Given the description of an element on the screen output the (x, y) to click on. 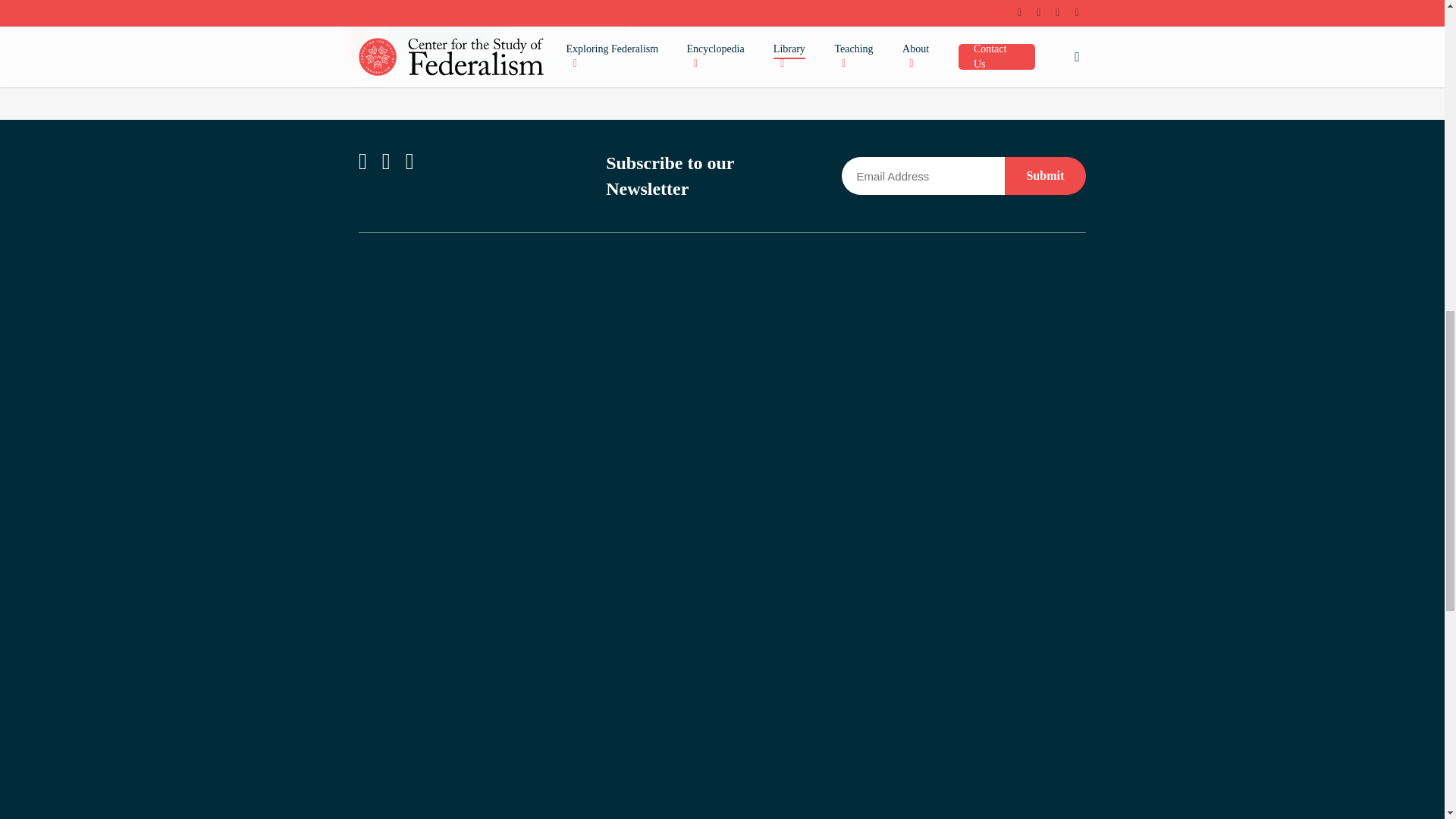
Submit (1045, 175)
